Given the description of an element on the screen output the (x, y) to click on. 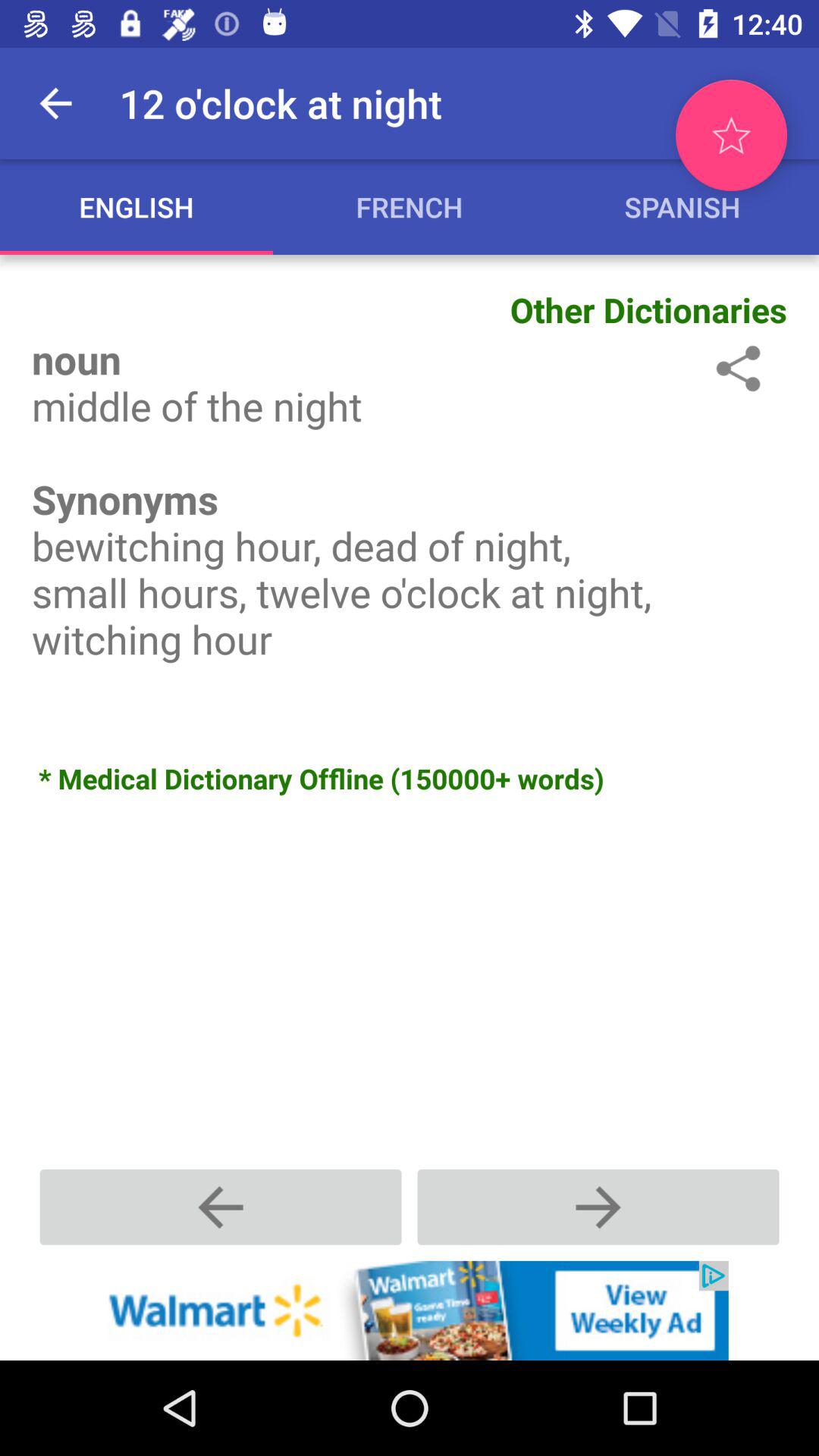
share the page (735, 368)
